Given the description of an element on the screen output the (x, y) to click on. 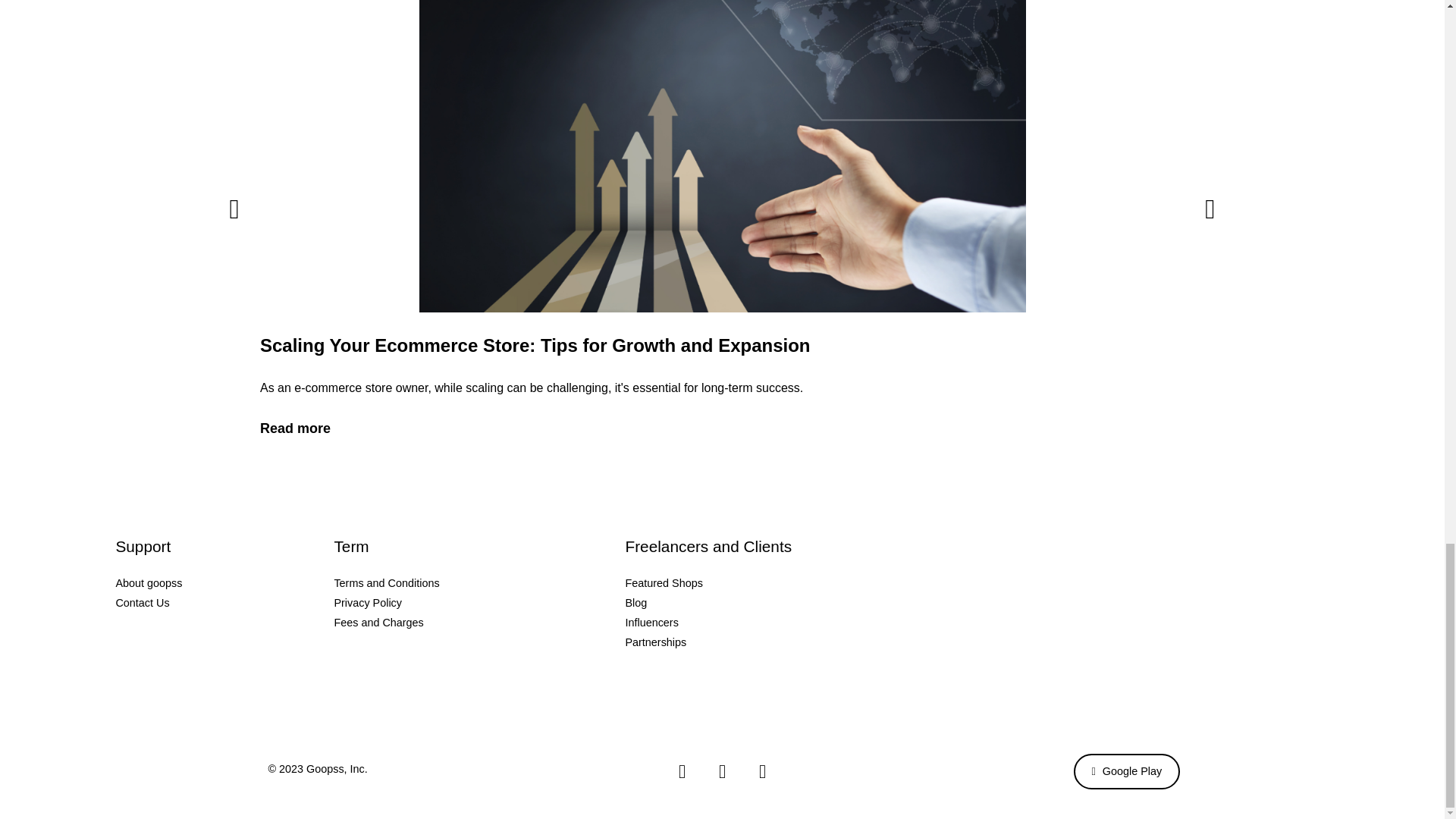
Terms and Conditions (478, 582)
Influencers (800, 622)
Fees and Charges (478, 622)
Privacy Policy (478, 602)
Featured Shops (800, 582)
Read more (294, 427)
About goopss (224, 582)
Contact Us (224, 602)
Blog (800, 602)
Partnerships (800, 641)
